Given the description of an element on the screen output the (x, y) to click on. 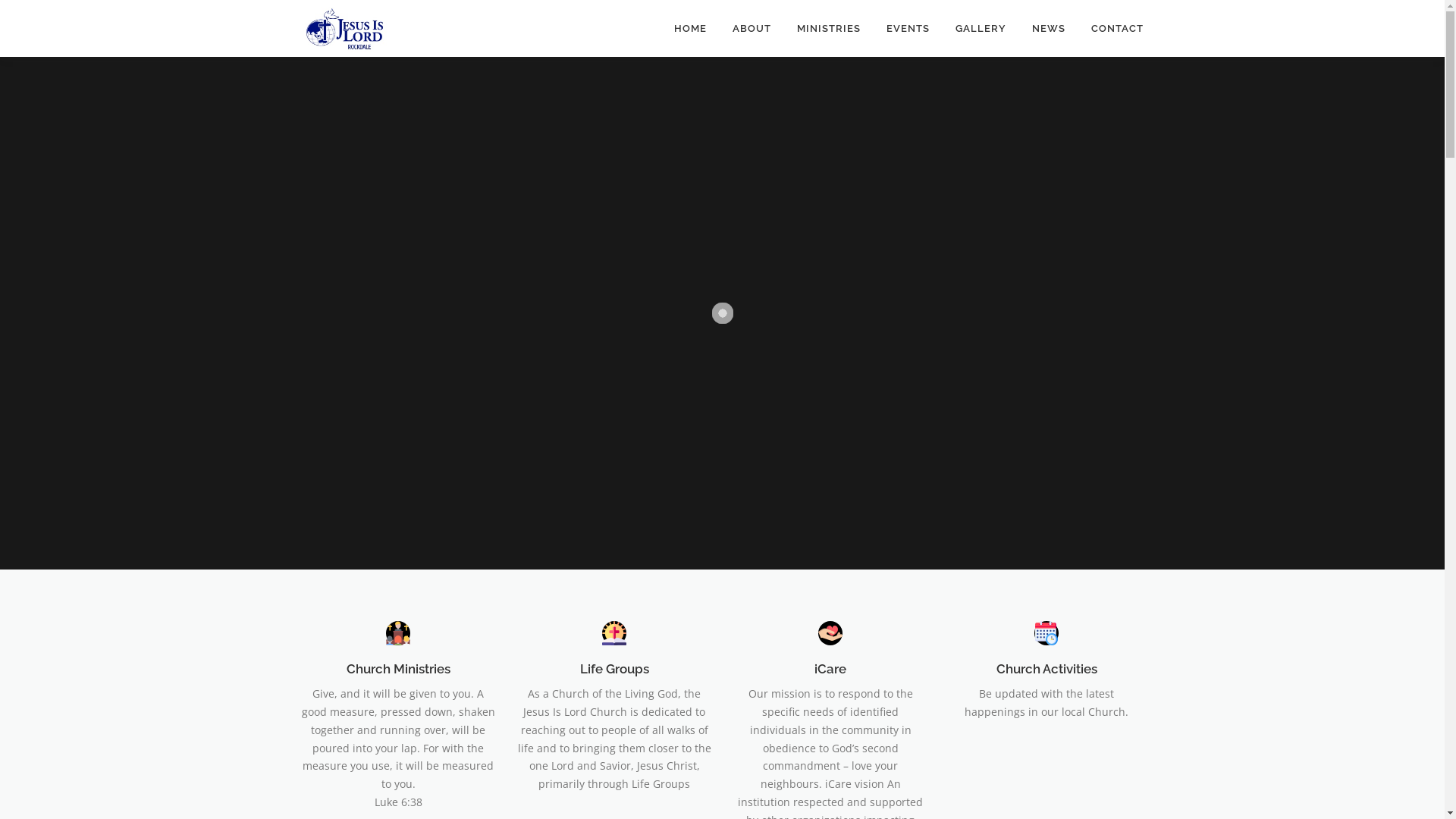
EVENTS Element type: text (907, 28)
ABOUT Element type: text (750, 28)
CONTACT Element type: text (1110, 28)
MINISTRIES Element type: text (828, 28)
HOME Element type: text (690, 28)
NEWS Element type: text (1048, 28)
GALLERY Element type: text (979, 28)
